Given the description of an element on the screen output the (x, y) to click on. 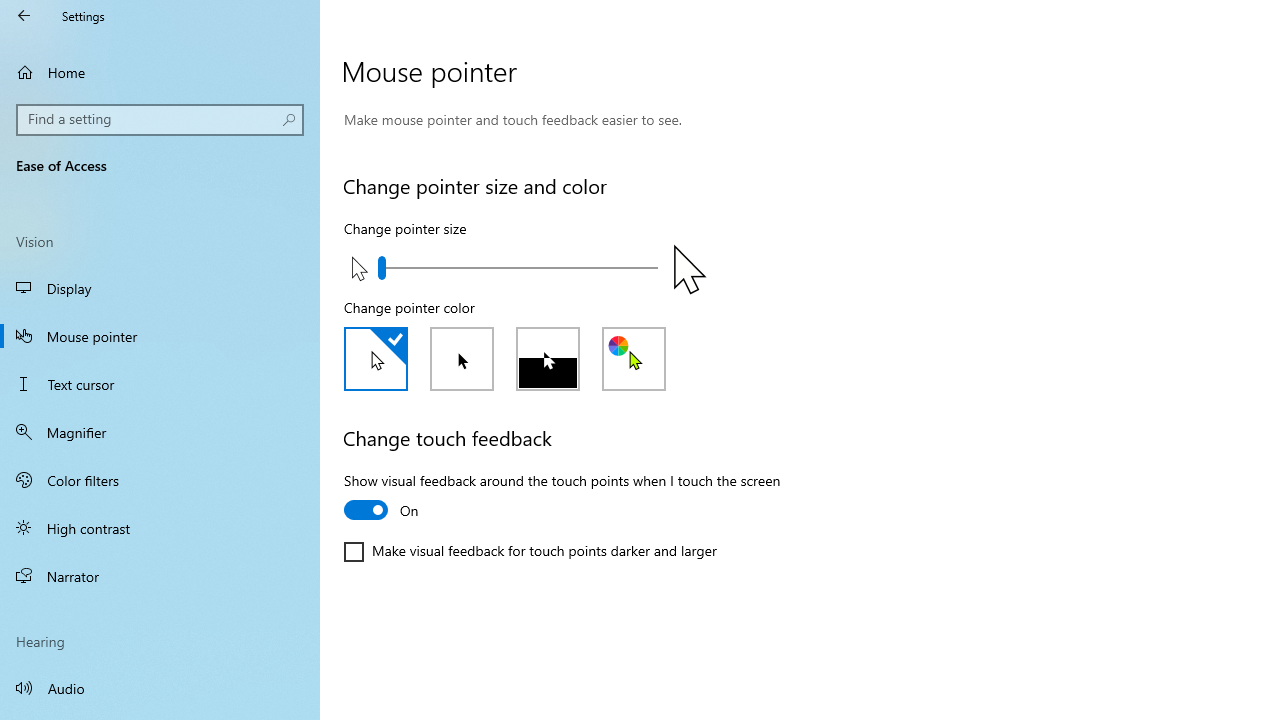
Inverted (548, 358)
Text cursor (160, 384)
Mouse pointer (160, 335)
Custom (634, 358)
Magnifier (160, 431)
Change pointer size (517, 267)
Display (160, 287)
Narrator (160, 575)
Home (160, 71)
Search box, Find a setting (160, 119)
Make visual feedback for touch points darker and larger (530, 551)
High contrast (160, 527)
Black (461, 358)
White (375, 358)
